Given the description of an element on the screen output the (x, y) to click on. 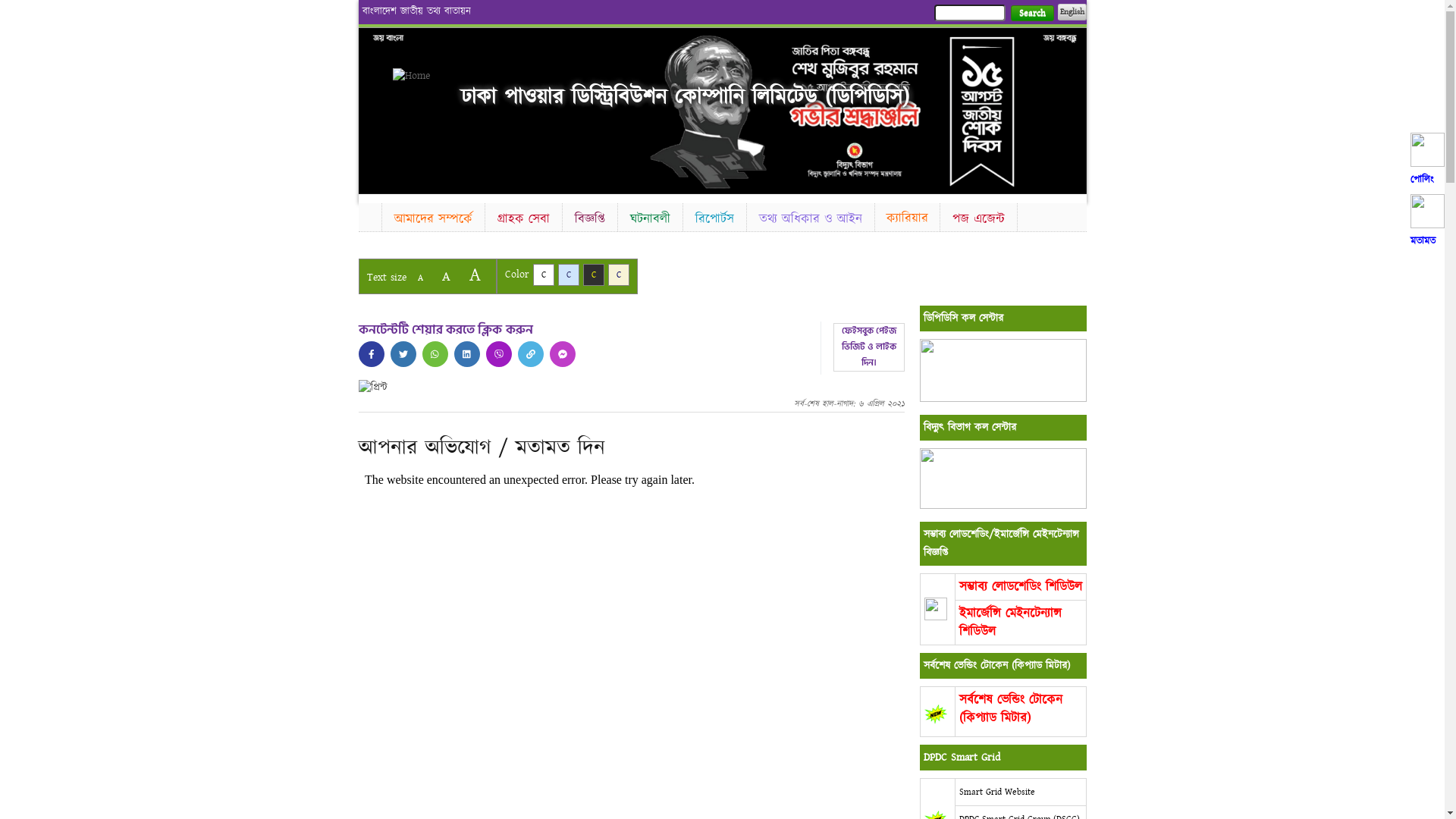
A Element type: text (445, 276)
English Element type: text (1071, 11)
Home Element type: hover (418, 76)
Search Element type: text (1031, 13)
A Element type: text (419, 277)
A Element type: text (474, 274)
C Element type: text (568, 274)
C Element type: text (592, 274)
C Element type: text (542, 274)
Home Element type: hover (368, 215)
C Element type: text (618, 274)
Smart Grid Website Element type: text (996, 791)
